Given the description of an element on the screen output the (x, y) to click on. 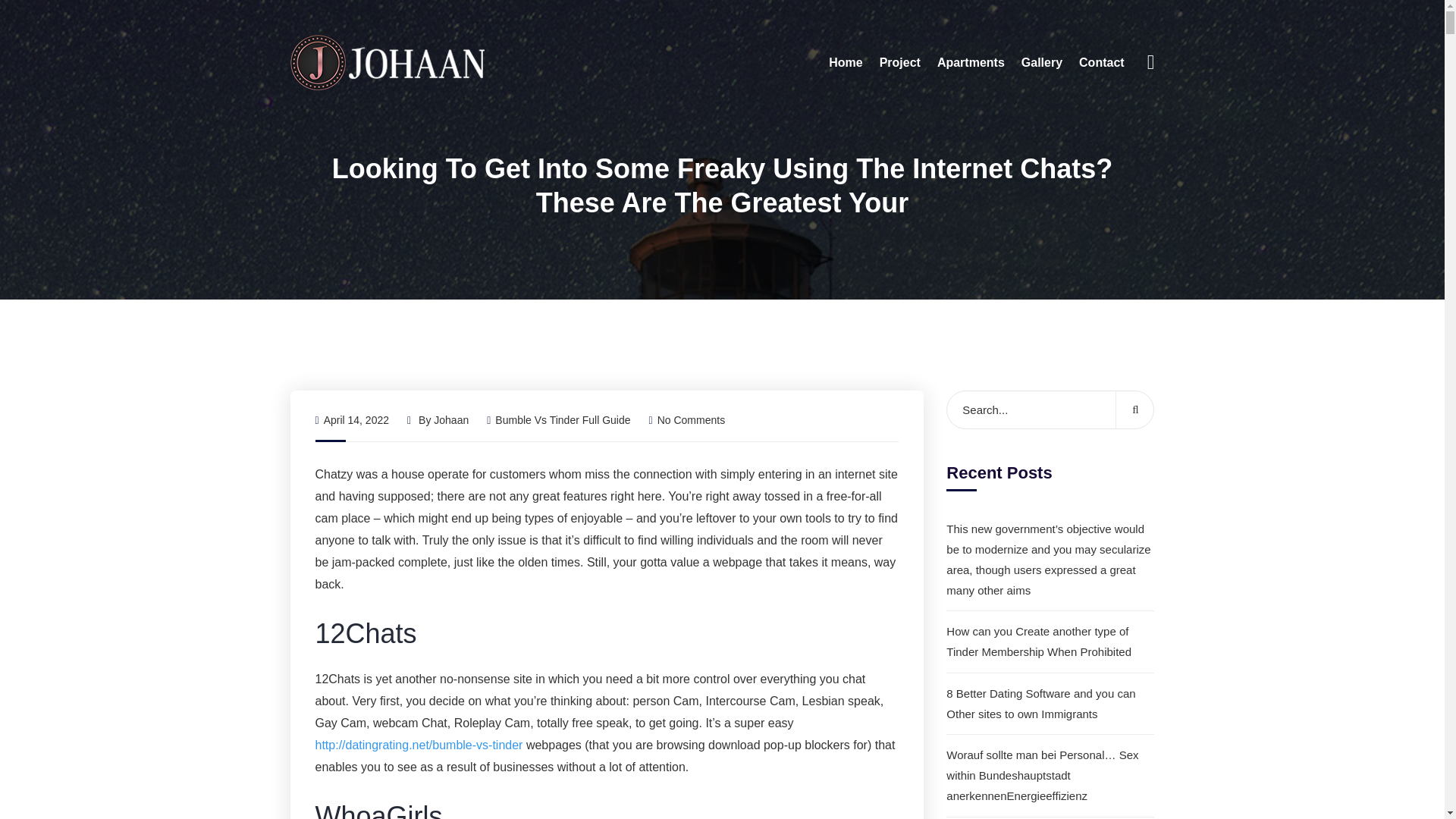
Contact (1101, 62)
No Comments (687, 419)
Home (844, 62)
Johaan (386, 61)
Apartments (970, 62)
Gallery (1042, 62)
Johaan (450, 419)
Posts by Johaan (450, 419)
Bumble Vs Tinder Full Guide (562, 419)
Project (899, 62)
